Given the description of an element on the screen output the (x, y) to click on. 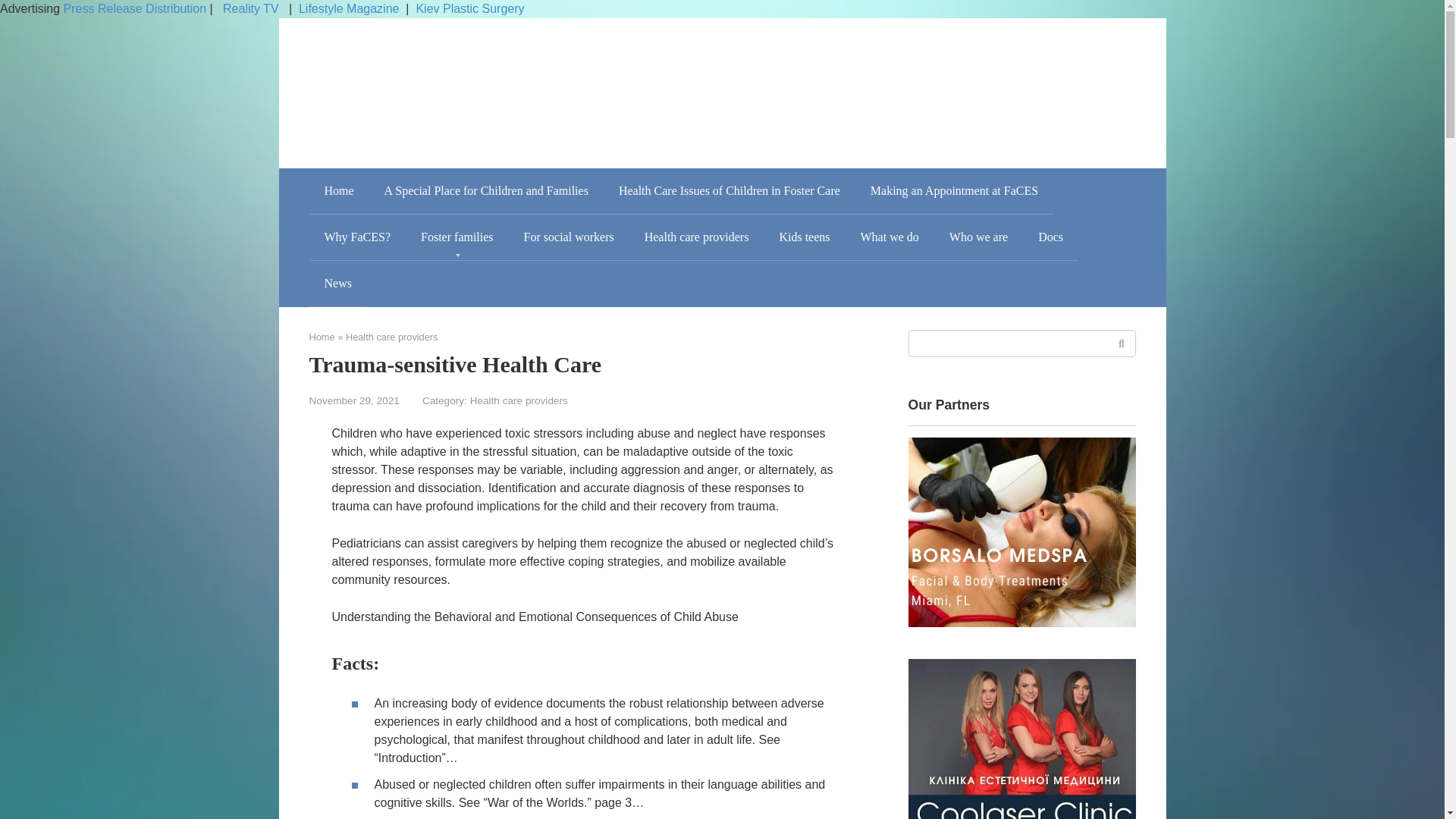
Foster families (457, 237)
Esthetician in Miami (1021, 532)
Health care providers (518, 400)
Making an Appointment at FaCES (954, 190)
Aesthetic Medicine Clinic Kiev (1021, 739)
Health care providers (696, 237)
For social workers (568, 237)
Kiev Plastic Surgery (469, 8)
Lifestyle Magazine (348, 8)
Health Care Issues of Children in Foster Care (730, 190)
